Given the description of an element on the screen output the (x, y) to click on. 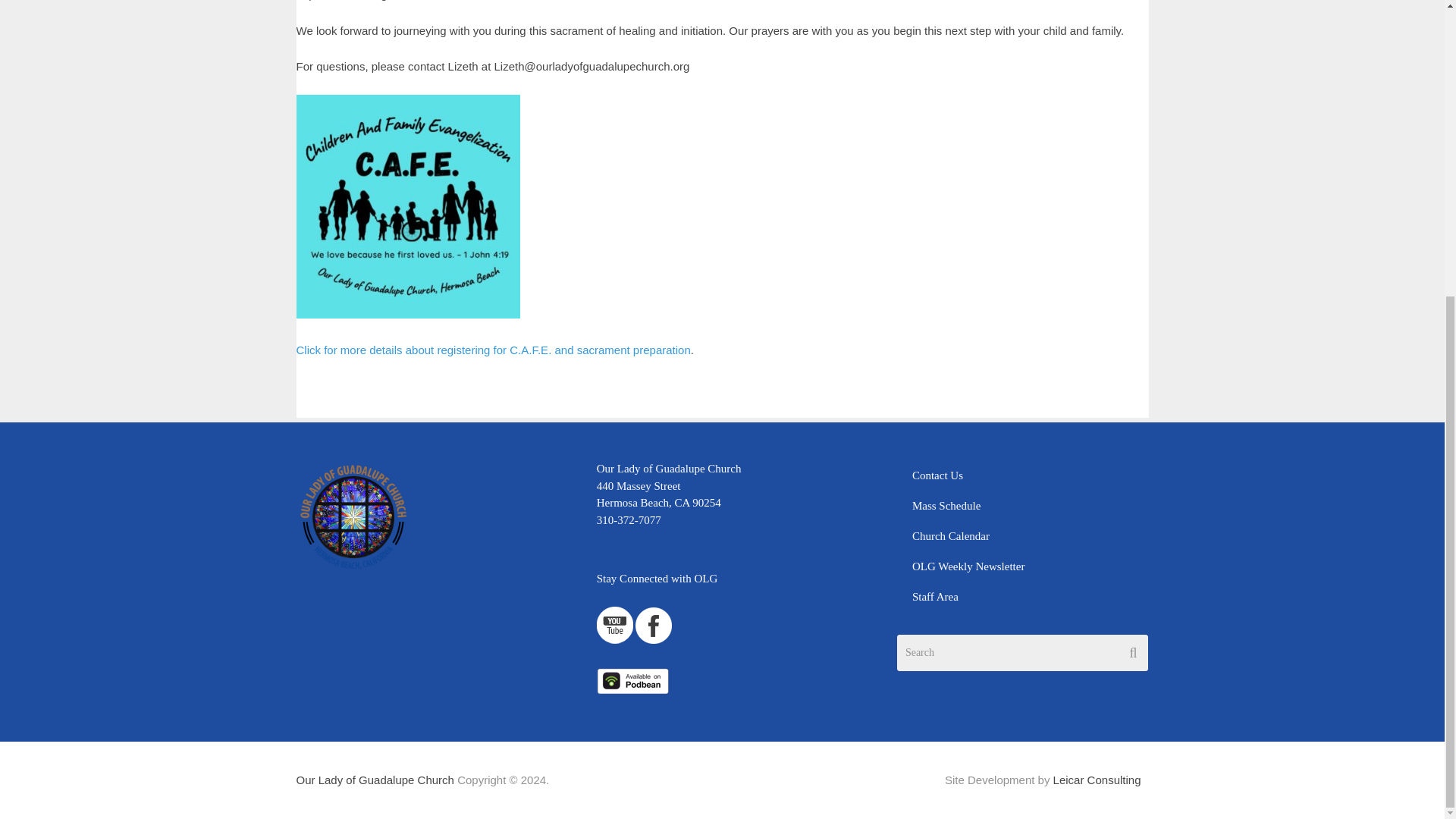
Catholic Church Community Serving Hermosa Beach, CA (373, 779)
